Given the description of an element on the screen output the (x, y) to click on. 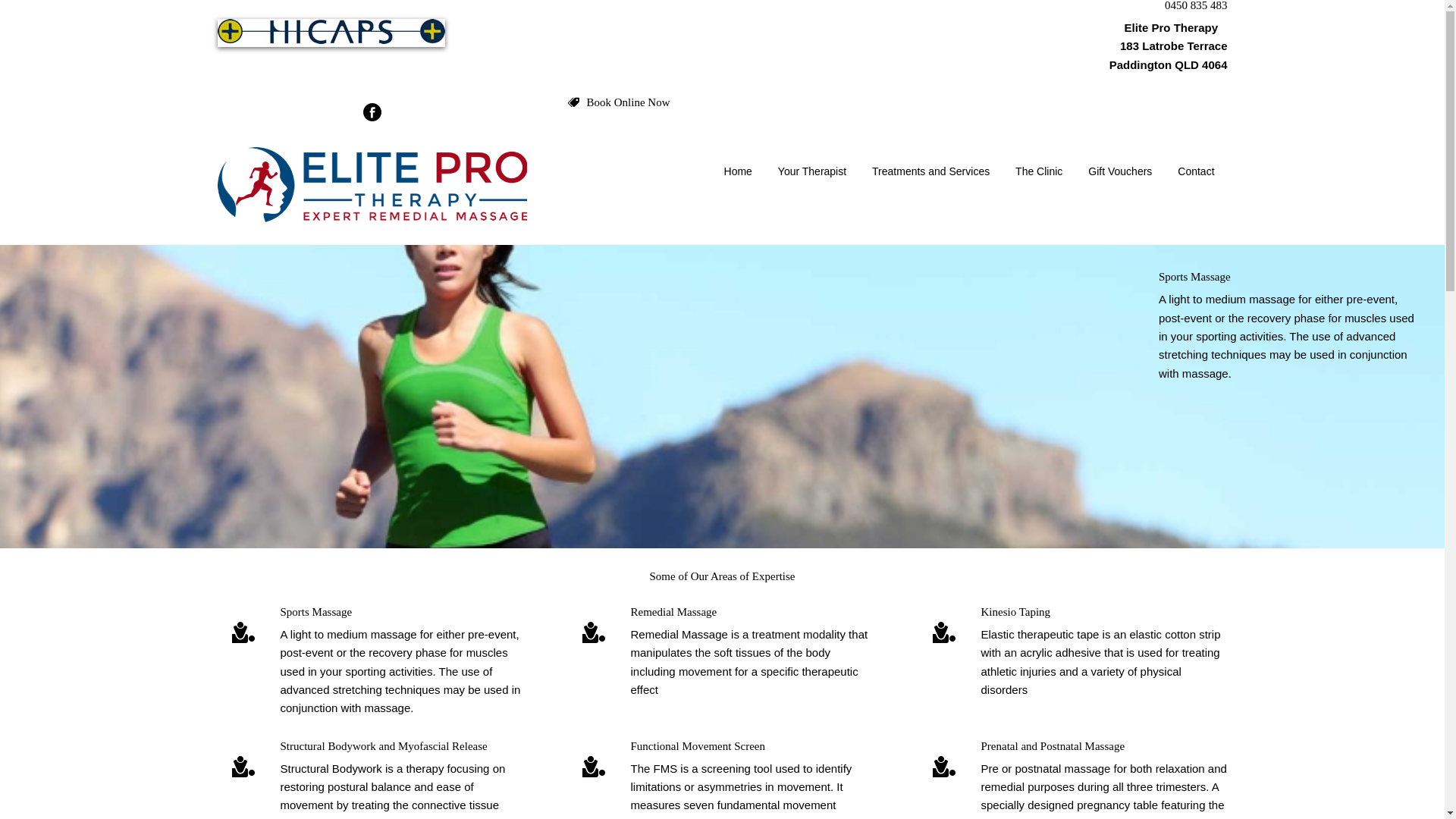
The Clinic Element type: text (1038, 171)
Your Therapist Element type: text (812, 171)
Contact Element type: text (1195, 171)
Treatments and Services Element type: text (930, 171)
Home Element type: text (738, 171)
0450 835 483 Element type: text (1195, 5)
Book Online Now Element type: text (628, 102)
Gift Vouchers Element type: text (1119, 171)
